Given the description of an element on the screen output the (x, y) to click on. 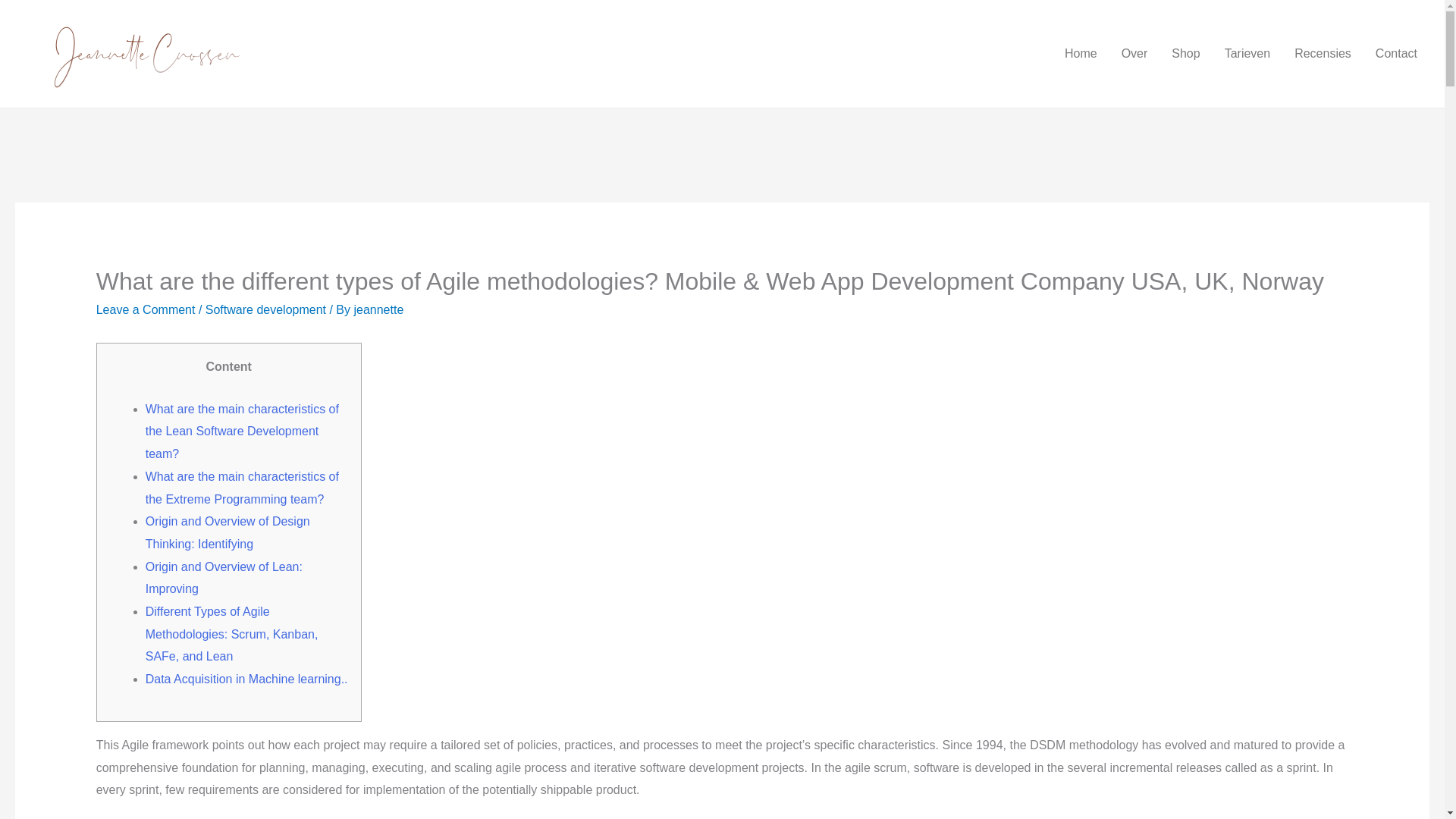
jeannette (378, 309)
Recensies (1322, 53)
Home (1080, 53)
Data Acquisition in Machine learning.. (246, 678)
Shop (1184, 53)
Over (1134, 53)
Contact (1395, 53)
Tarieven (1247, 53)
Software development (265, 309)
Origin and Overview of Lean: Improving (223, 578)
Leave a Comment (145, 309)
Origin and Overview of Design Thinking: Identifying (227, 532)
View all posts by jeannette (378, 309)
